Given the description of an element on the screen output the (x, y) to click on. 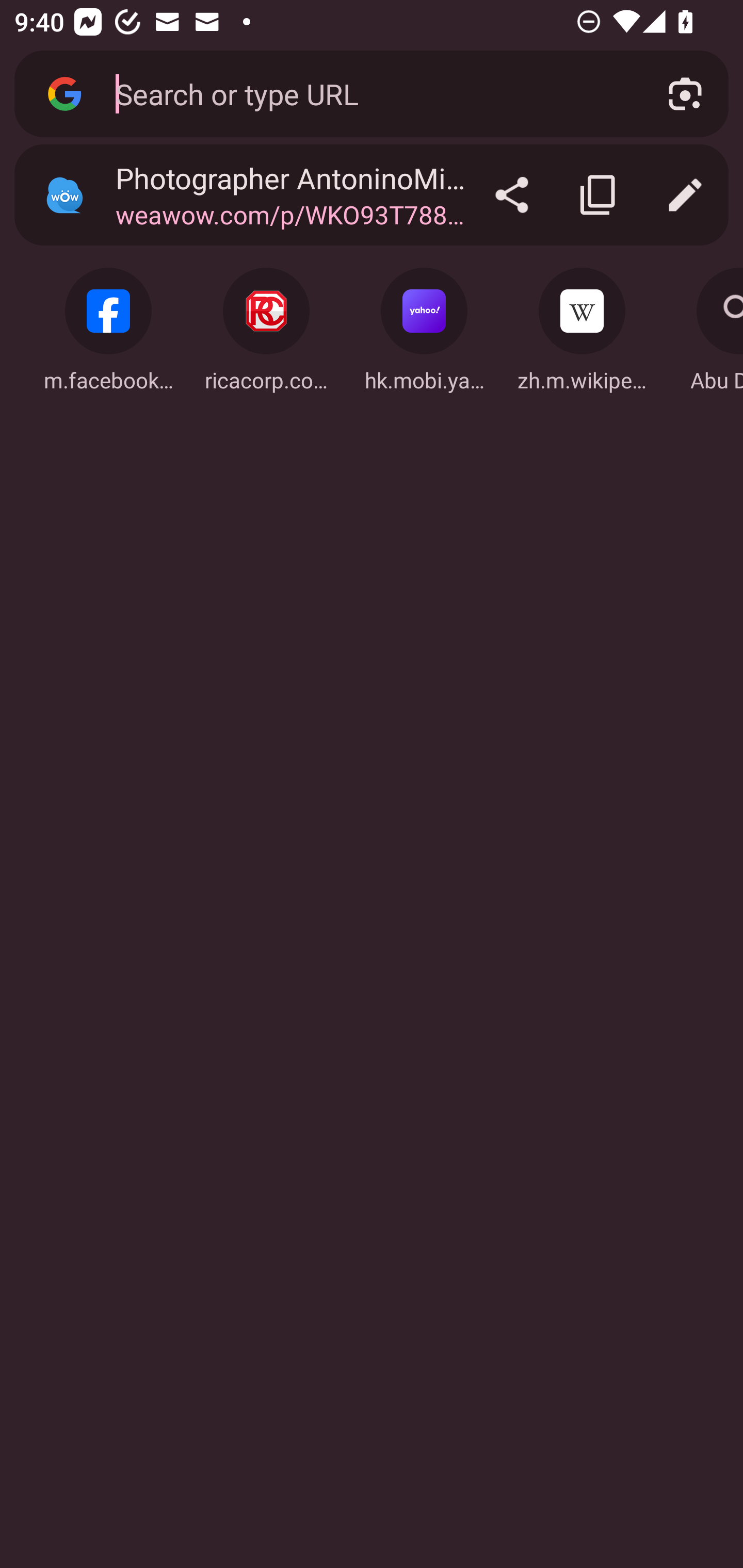
Search with your camera using Google Lens (684, 93)
Search or type URL (367, 92)
Share… (511, 195)
Copy link (598, 195)
Edit (684, 195)
